Given the description of an element on the screen output the (x, y) to click on. 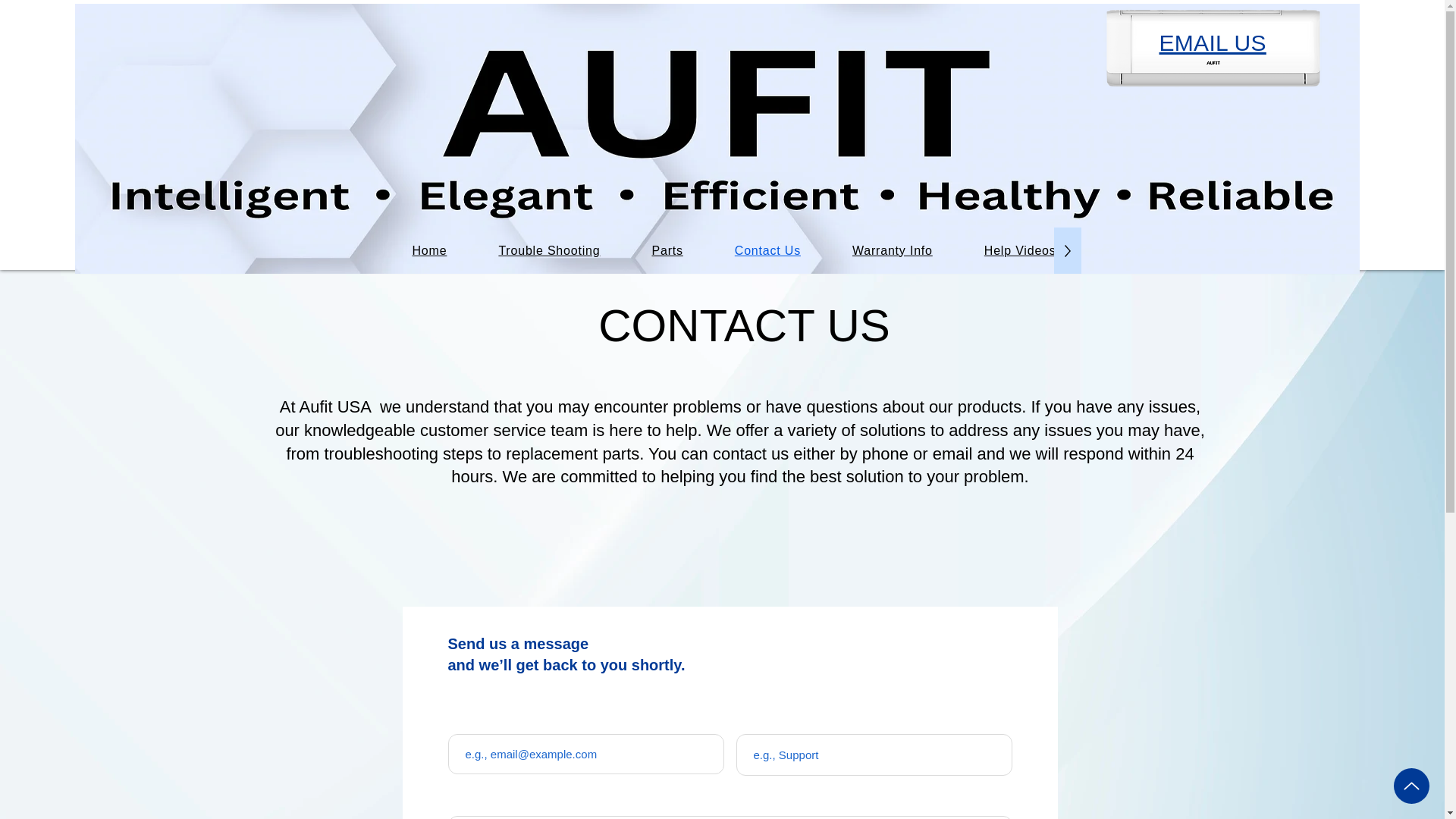
Members (1134, 250)
Help Videos (1019, 250)
Parts (666, 250)
Contact Us (767, 250)
Home (430, 250)
EMAIL US (1211, 42)
Trouble Shooting (549, 250)
Warranty Info (892, 250)
